Given the description of an element on the screen output the (x, y) to click on. 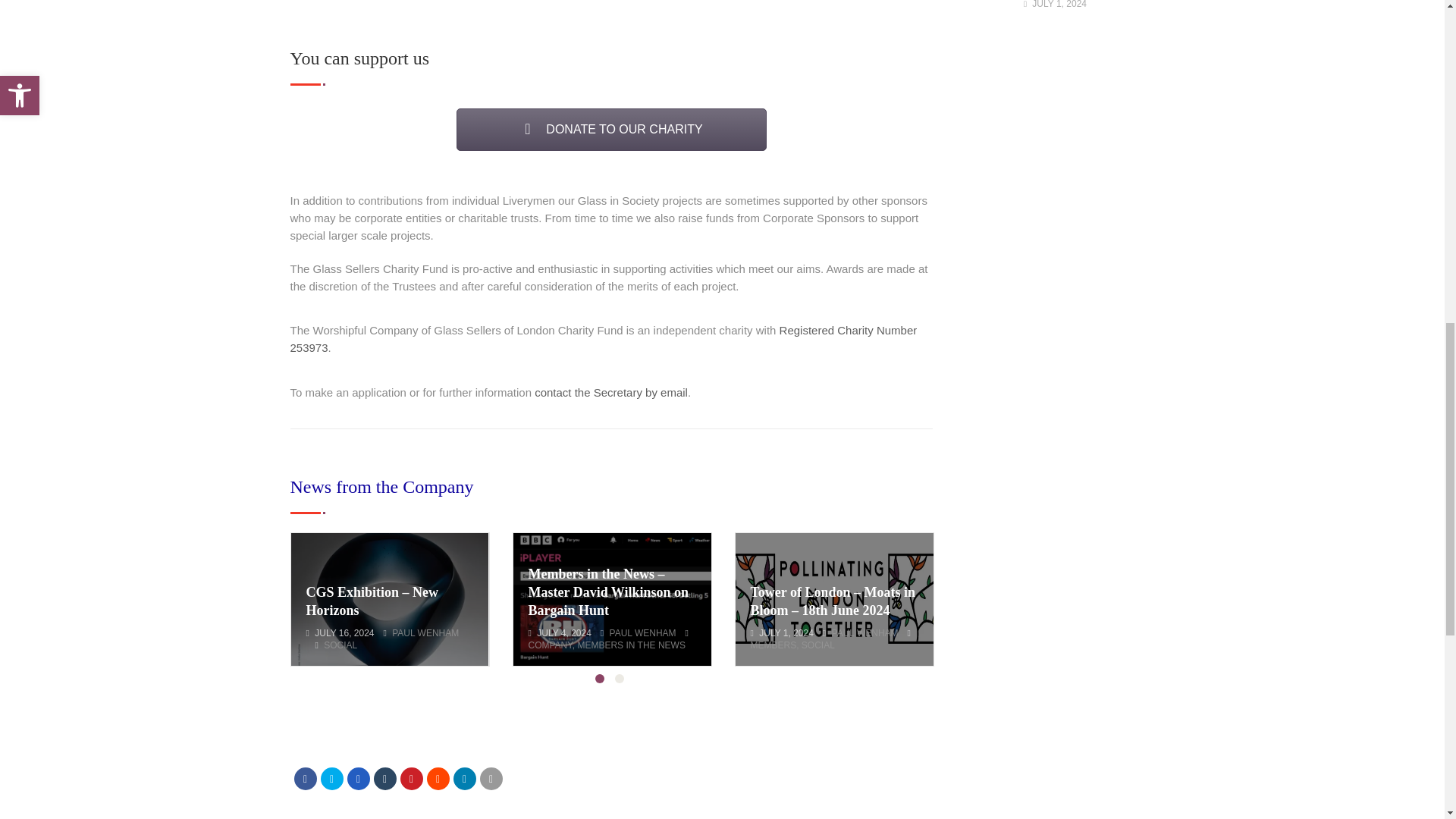
Pin it (411, 778)
Tweet (331, 778)
Share on Linkedin (437, 778)
Share on Linkedin (464, 778)
Share on Facebook (305, 778)
Email (490, 778)
Post to Tumblr (384, 778)
